Given the description of an element on the screen output the (x, y) to click on. 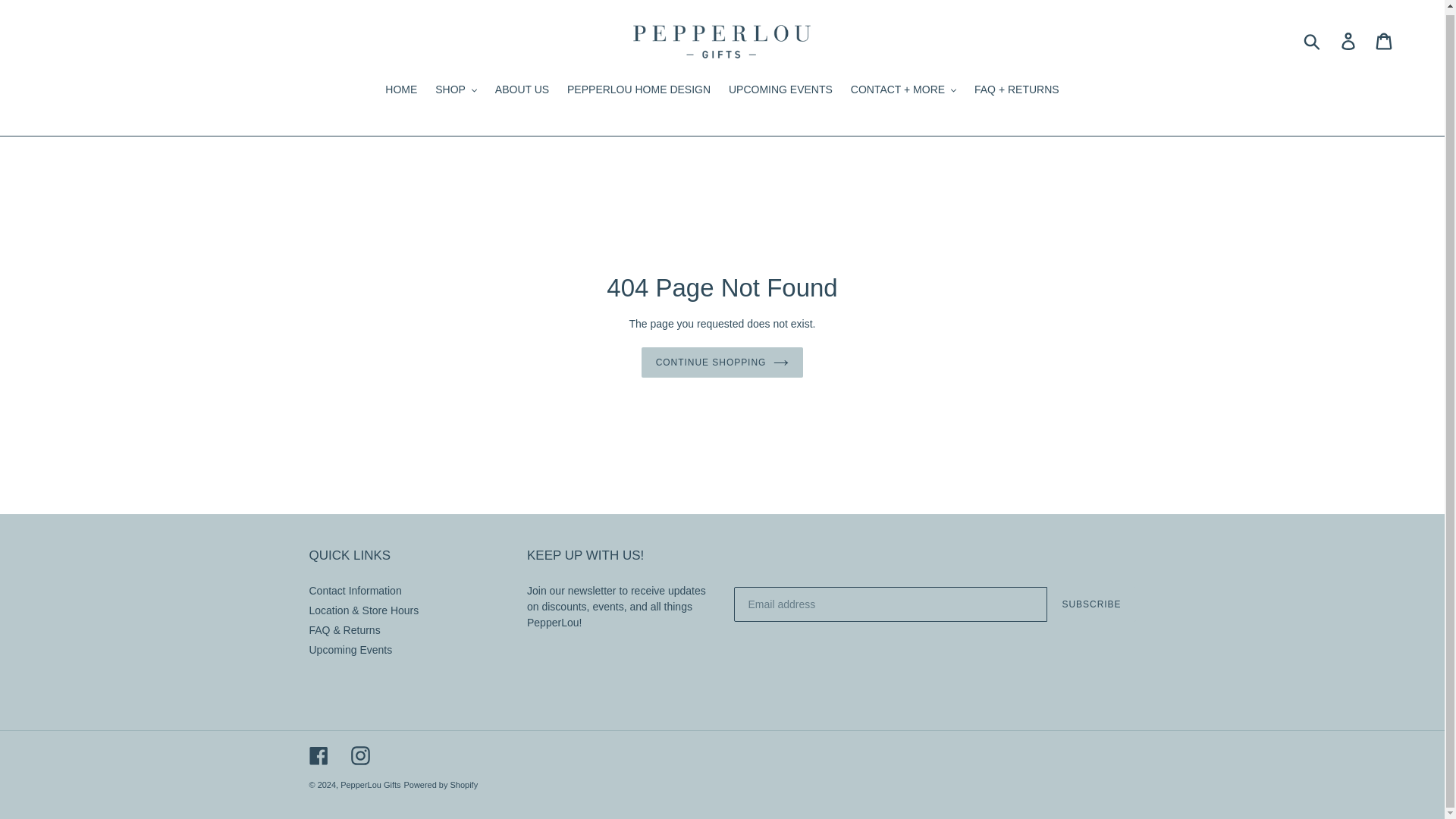
Log in (1349, 41)
Submit (1313, 40)
Cart (1385, 41)
